Given the description of an element on the screen output the (x, y) to click on. 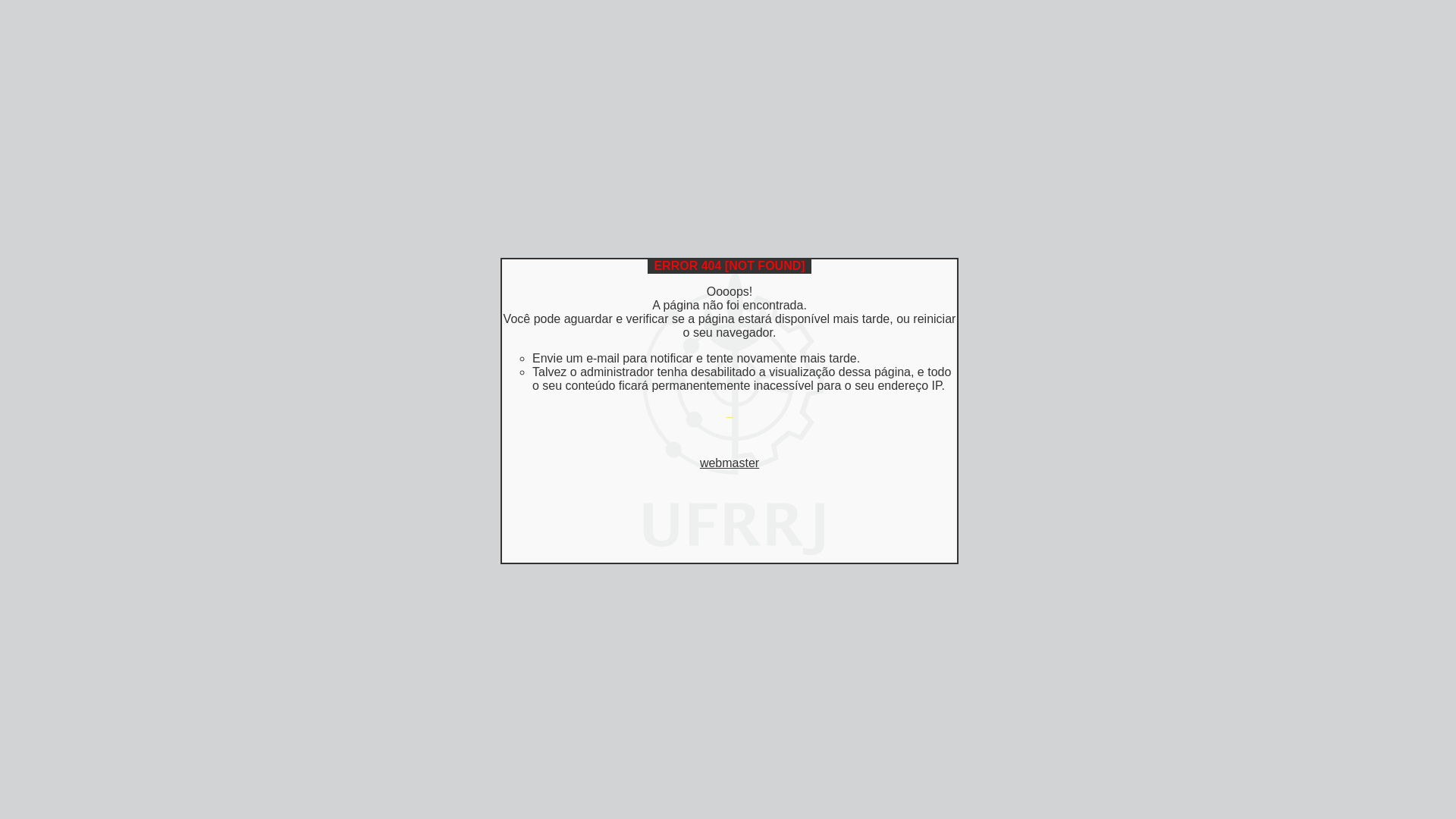
webmaster Element type: text (729, 462)
